Given the description of an element on the screen output the (x, y) to click on. 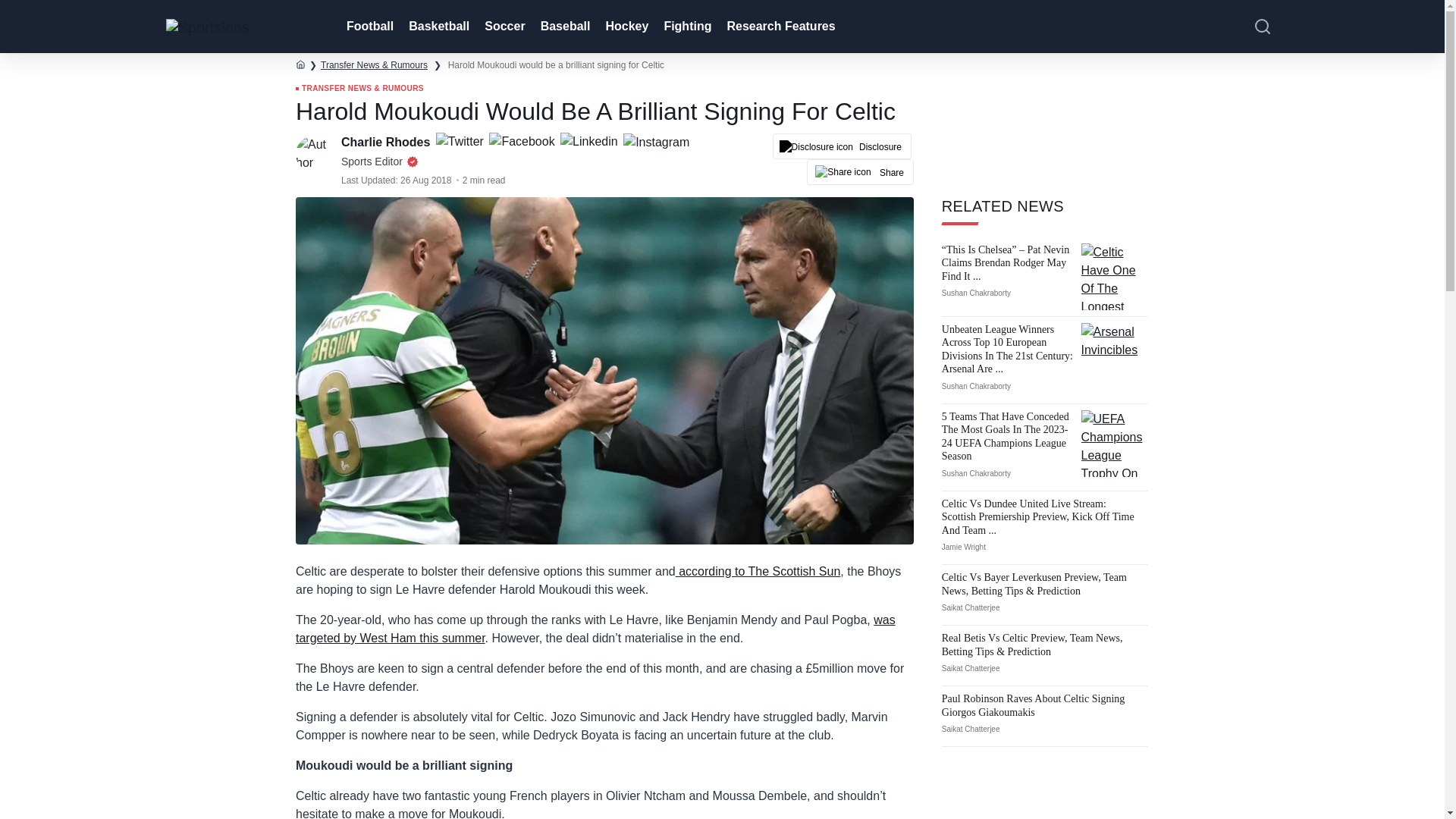
was targeted by West Ham this summer (595, 628)
Football (367, 26)
Fighting (685, 26)
Basketball (437, 26)
Charlie Rhodes (386, 141)
Soccer (503, 26)
Share (860, 171)
Research Features (779, 26)
Baseball (563, 26)
according to The Scottish Sun (758, 571)
